Given the description of an element on the screen output the (x, y) to click on. 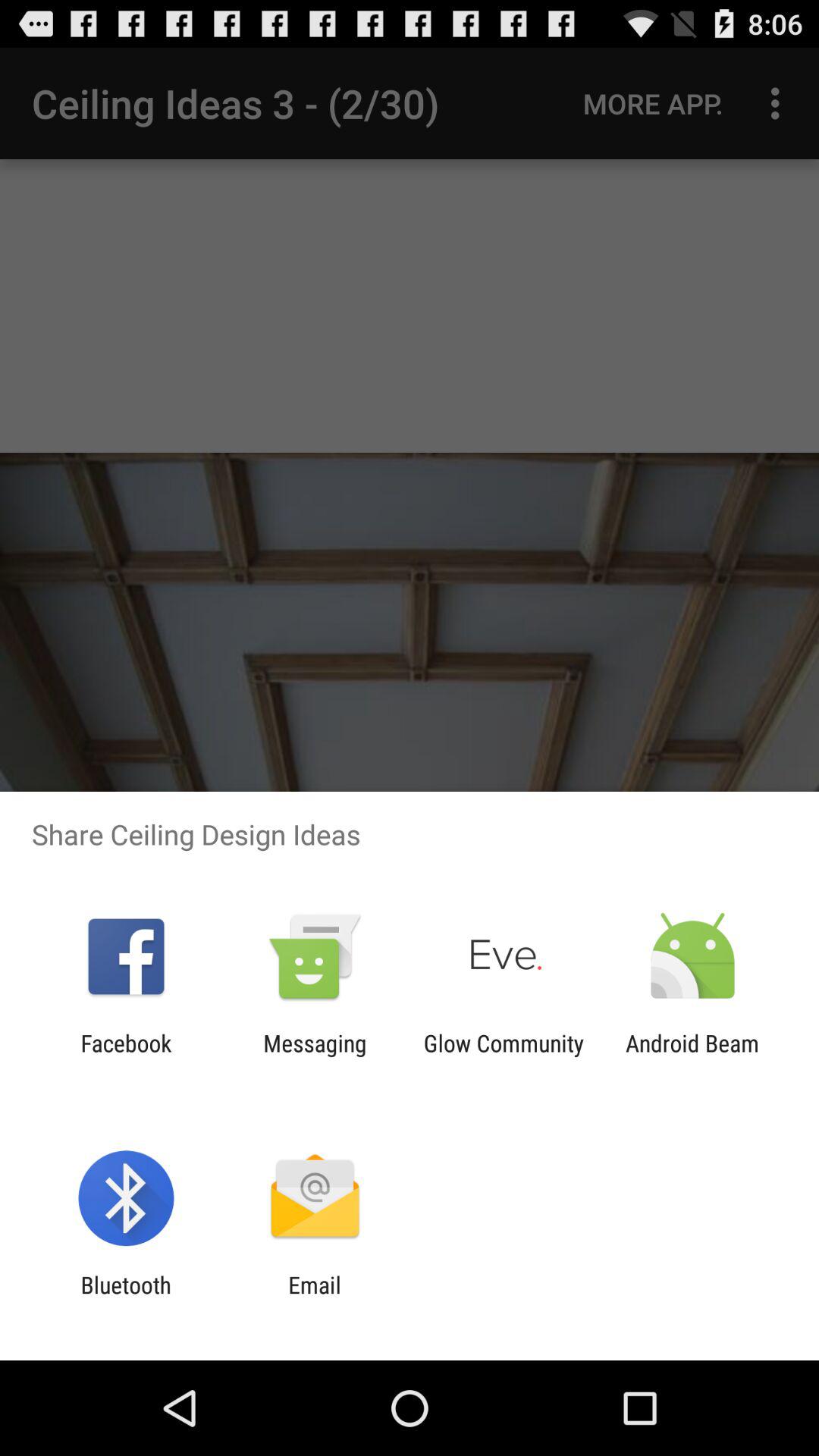
turn on item next to the facebook (314, 1056)
